Given the description of an element on the screen output the (x, y) to click on. 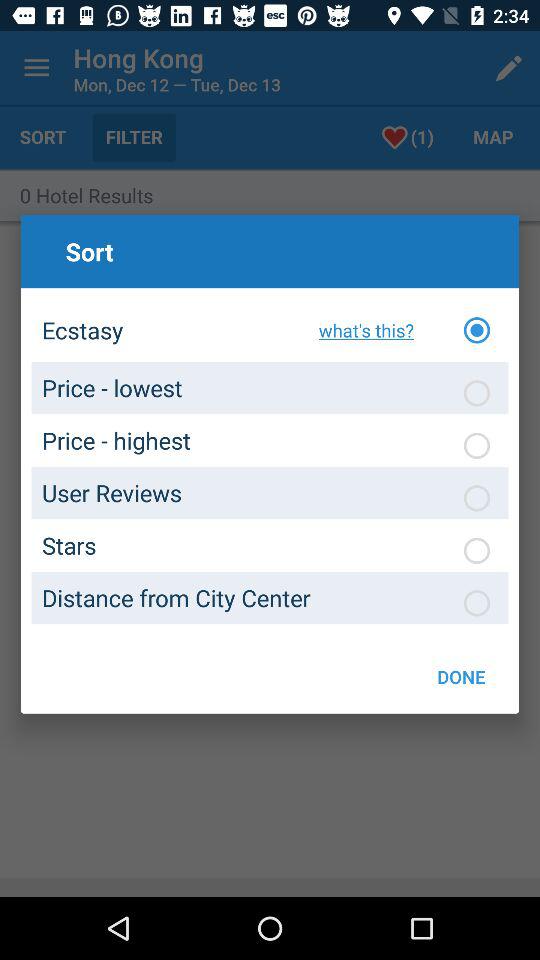
selective symbol (477, 550)
